Given the description of an element on the screen output the (x, y) to click on. 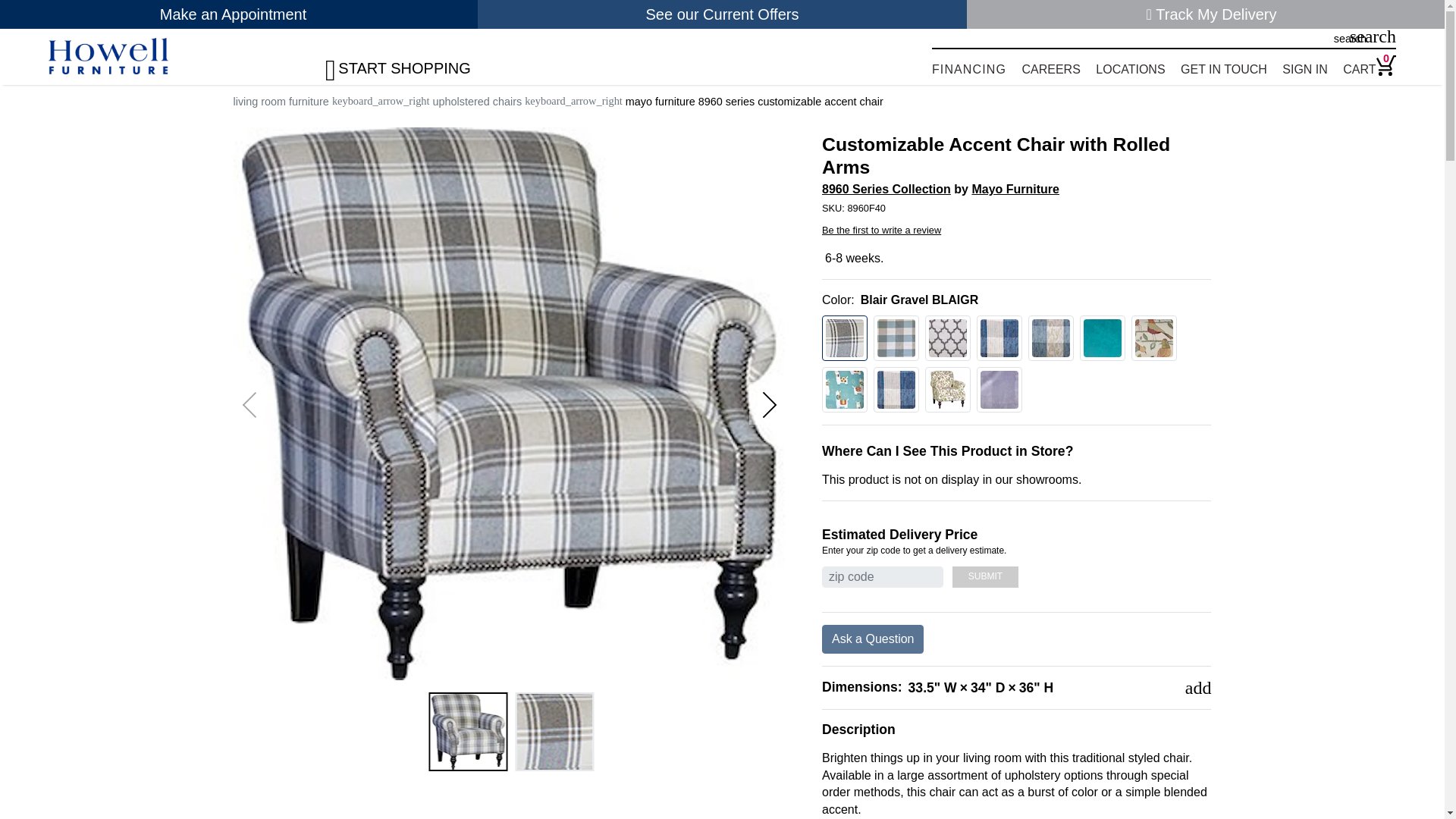
Llama Drama Aqua LLAMAQ (844, 389)
Looney Birds Carnival LOONCA (1153, 338)
Jodat Aegean JODAAE (1050, 338)
Claire Robins Egg CLAIRO (895, 338)
Jodat Indigo JODAIN (999, 338)
Make an Appointment (238, 14)
Dash Pewter DASHPE (947, 338)
Jodat Indigo JODAIN (895, 389)
START SHOPPING (415, 63)
8960F40 (1016, 208)
